Given the description of an element on the screen output the (x, y) to click on. 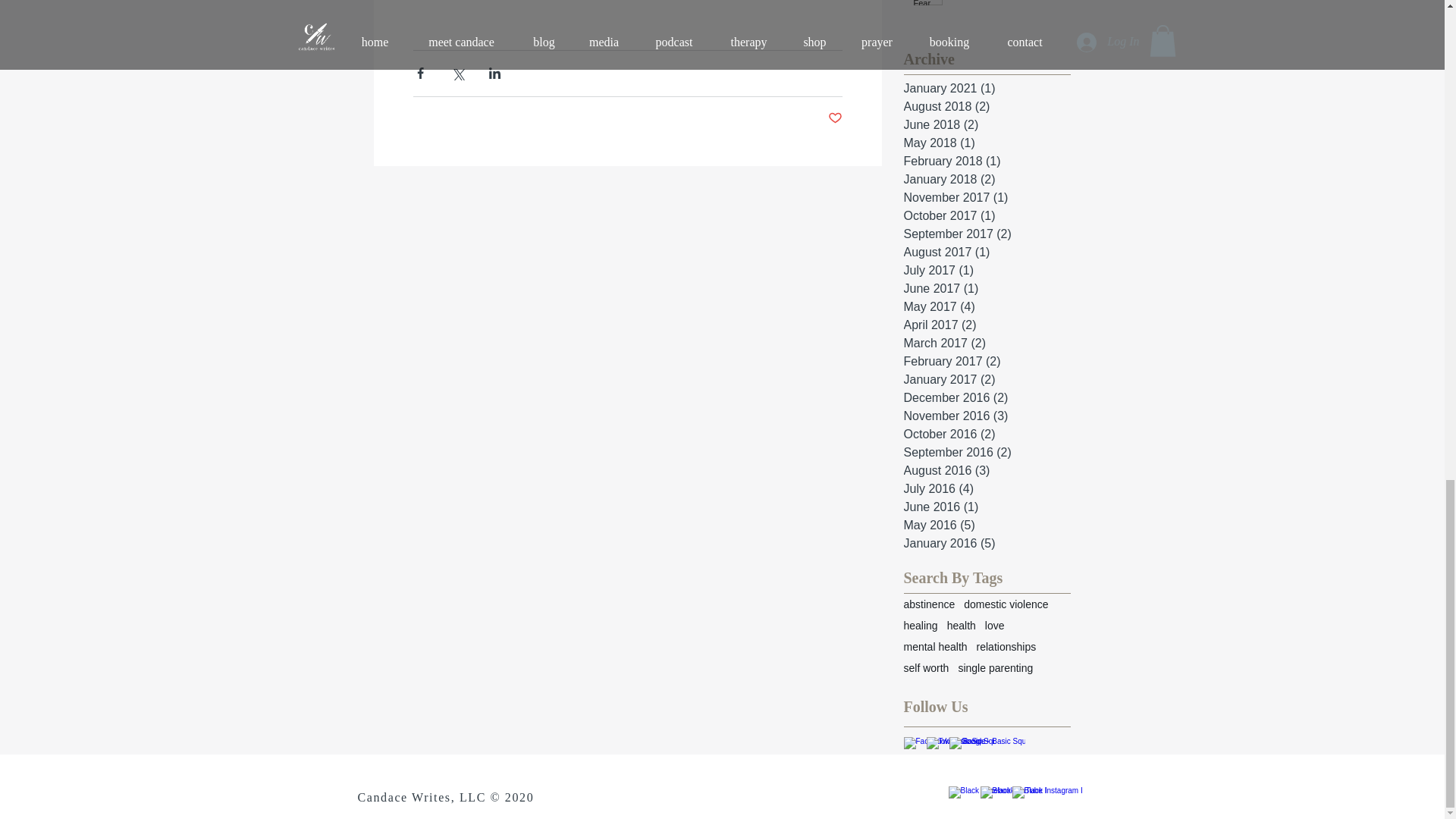
Fear Not! (1006, 4)
Post not marked as liked (835, 118)
